Given the description of an element on the screen output the (x, y) to click on. 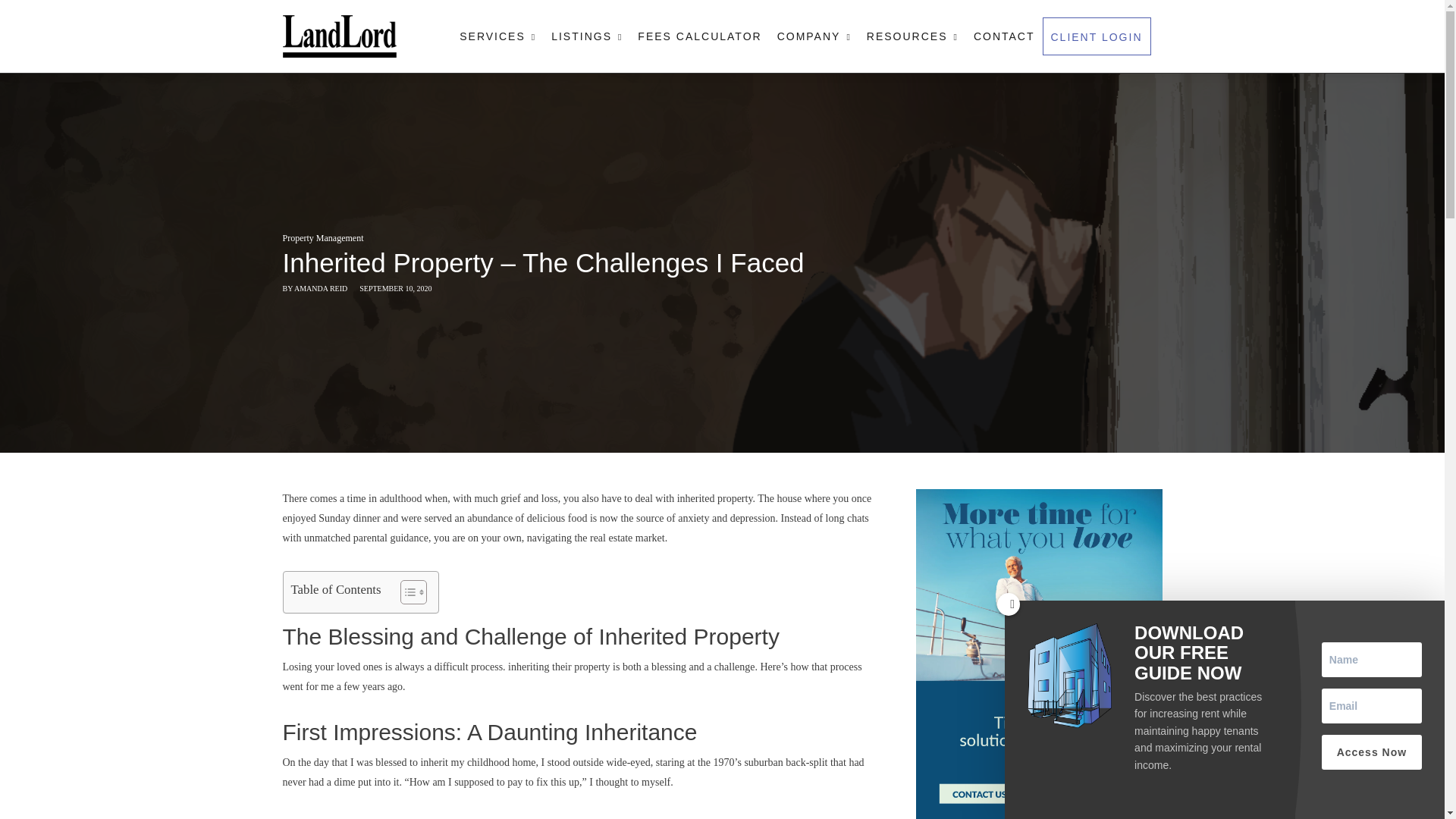
View all posts in Property Management (322, 237)
Posts by Amanda Reid (320, 288)
LandLord (339, 36)
SERVICES (497, 36)
